Given the description of an element on the screen output the (x, y) to click on. 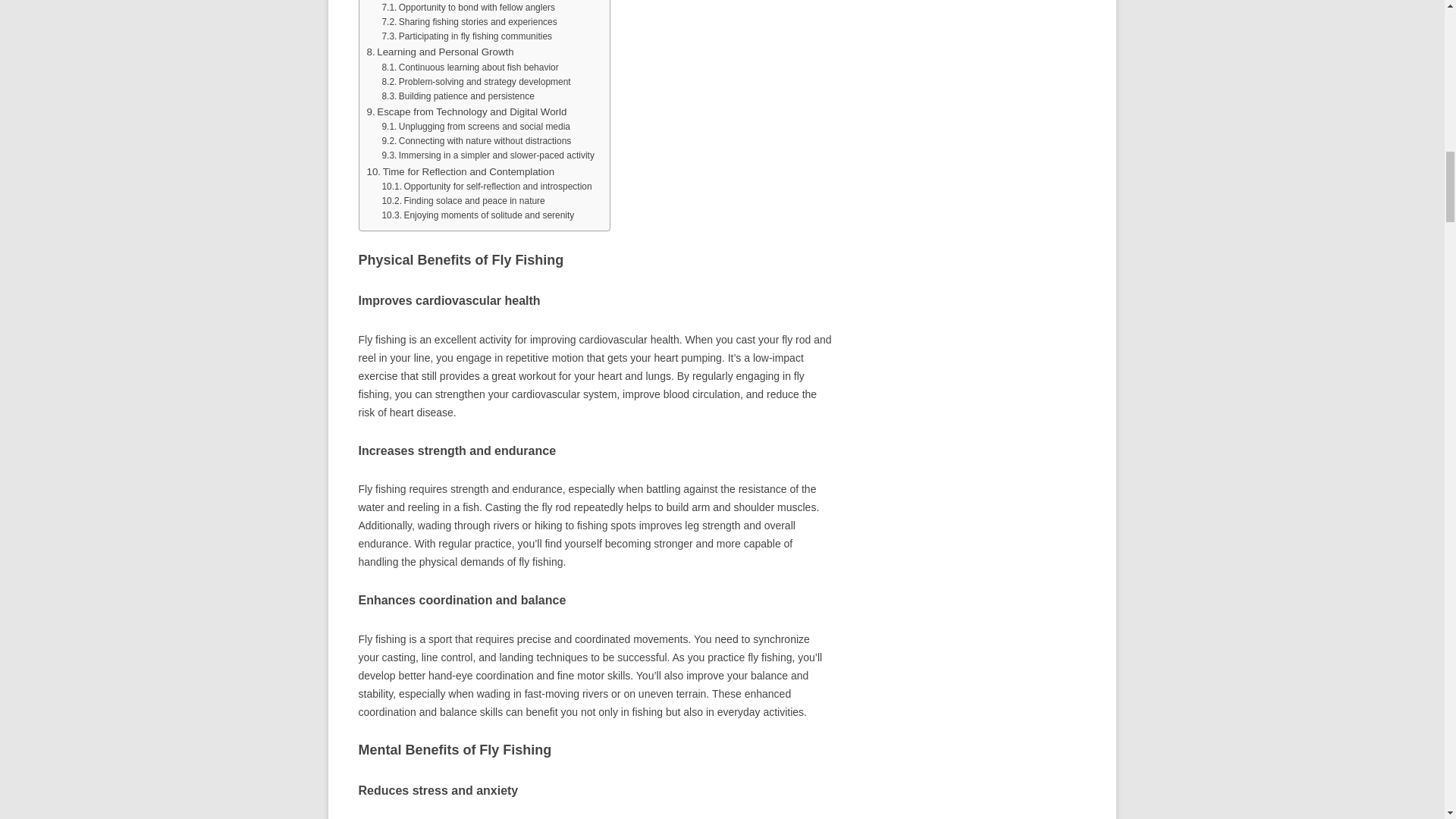
Continuous learning about fish behavior (469, 67)
Learning and Personal Growth (439, 51)
Sharing fishing stories and experiences (468, 22)
Opportunity to bond with fellow anglers (467, 7)
Participating in fly fishing communities (466, 36)
